Given the description of an element on the screen output the (x, y) to click on. 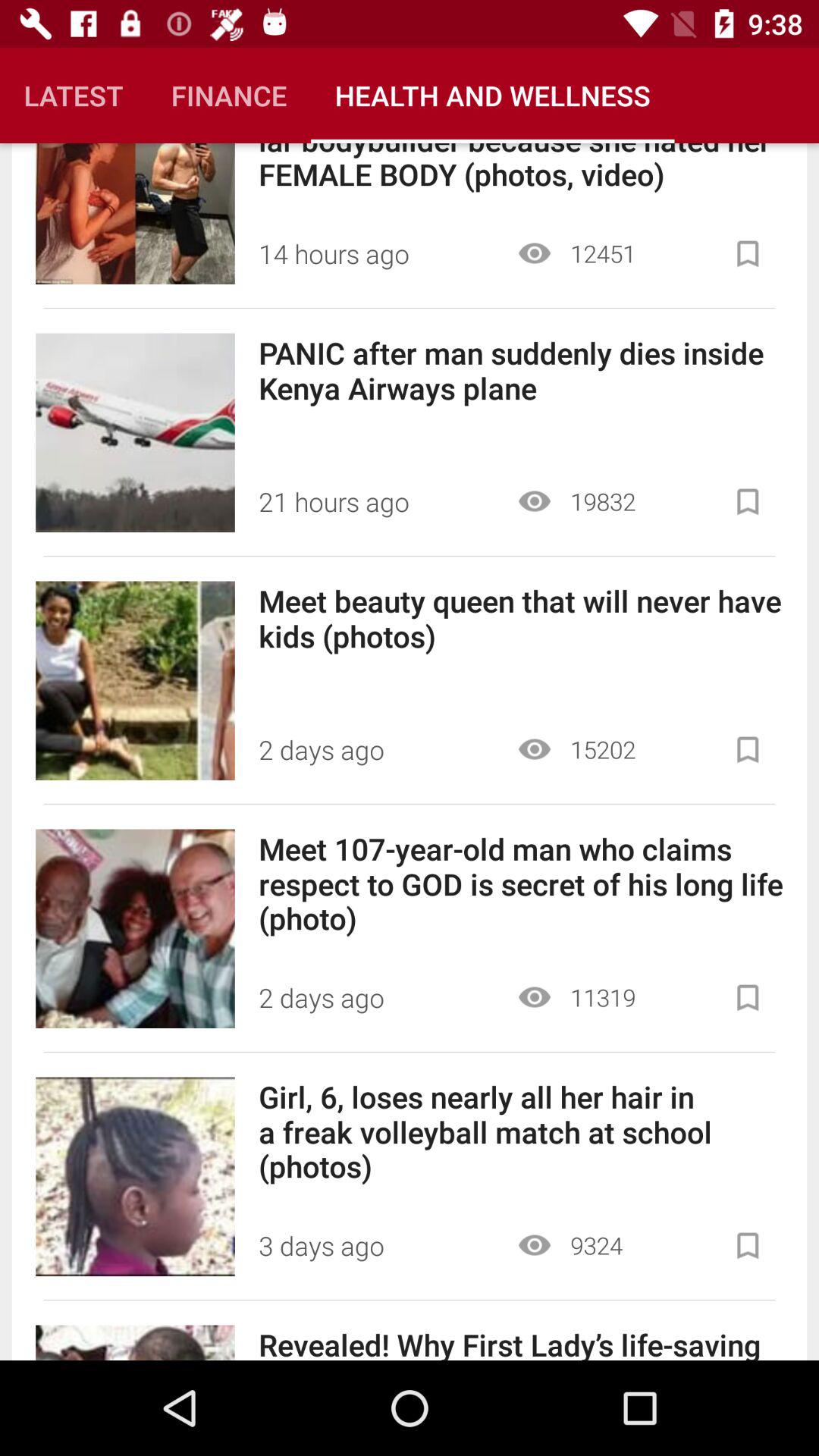
flag article (747, 253)
